Given the description of an element on the screen output the (x, y) to click on. 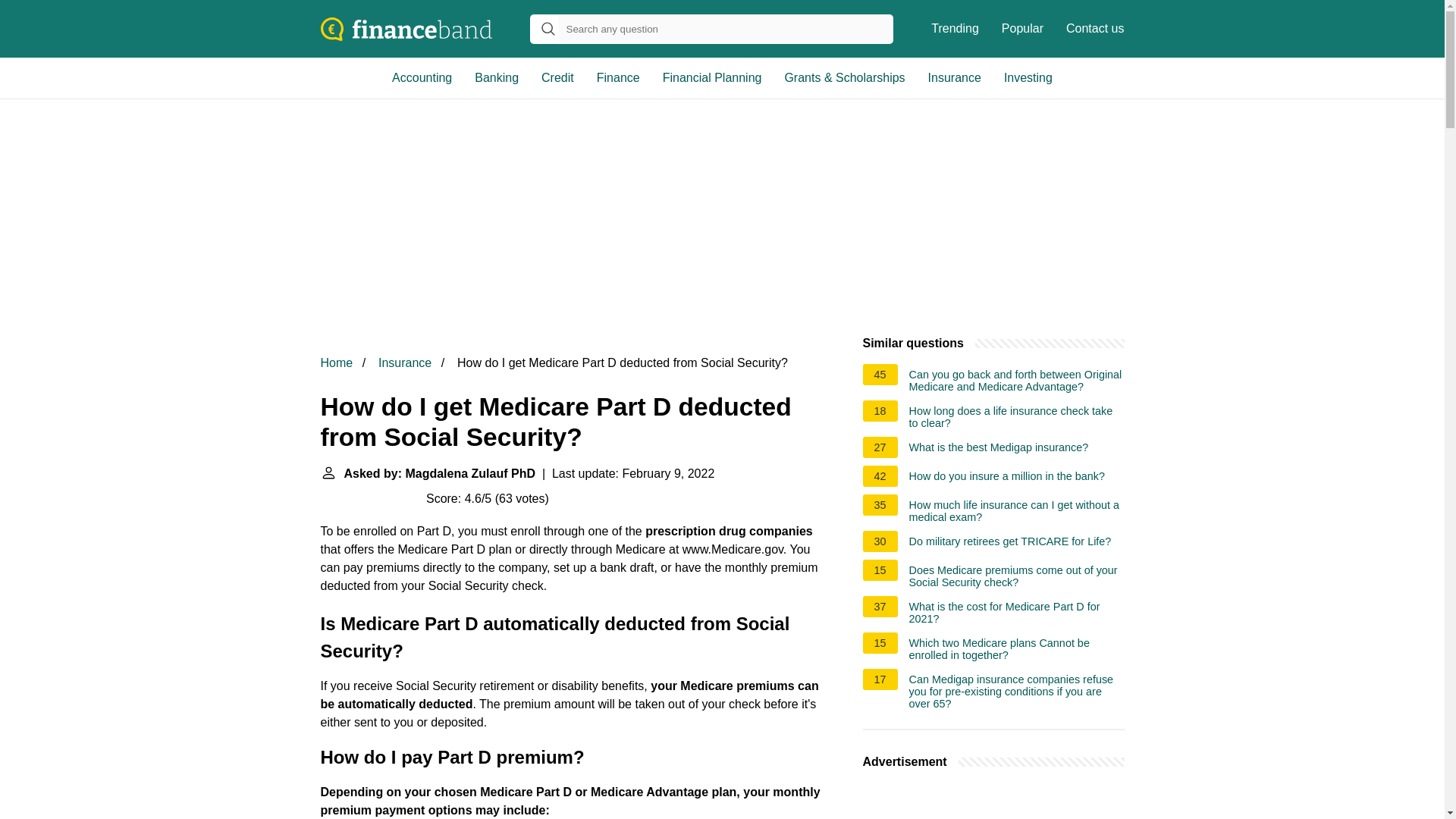
Accounting (421, 77)
What is the best Medigap insurance? (998, 449)
Which two Medicare plans Cannot be enrolled in together? (1016, 648)
What is the cost for Medicare Part D for 2021? (1016, 612)
Insurance (954, 77)
Popular (1022, 28)
Banking (496, 77)
Trending (954, 28)
How do you insure a million in the bank? (1006, 478)
Contact us (1094, 28)
How much life insurance can I get without a medical exam? (1016, 510)
How long does a life insurance check take to clear? (1016, 416)
Financial Planning (711, 77)
Finance (617, 77)
